Given the description of an element on the screen output the (x, y) to click on. 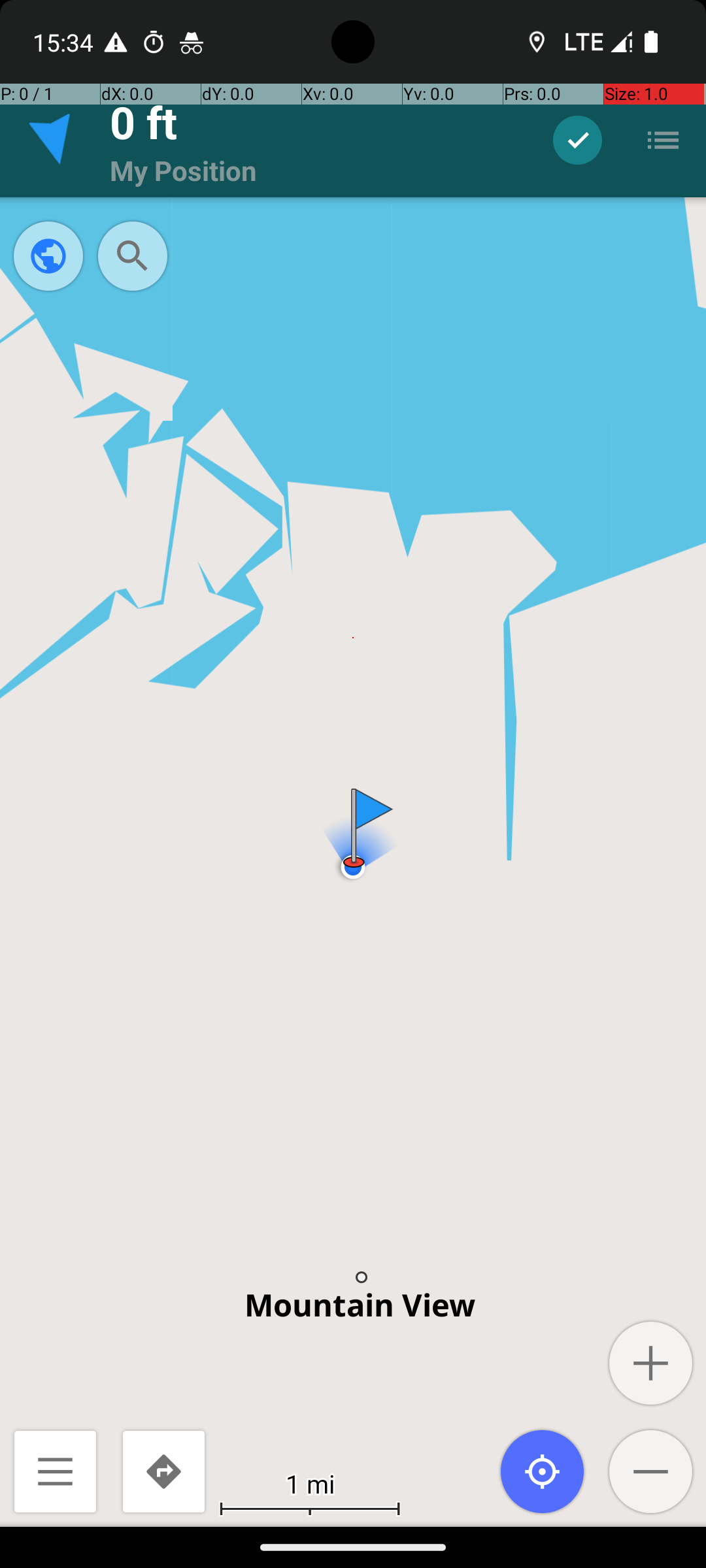
Map Element type: android.view.View (353, 763)
Configure map Element type: android.widget.ImageButton (48, 256)
Back to menu Element type: android.widget.ImageButton (55, 1471)
Route Element type: android.widget.ImageButton (163, 1471)
1 mi Element type: android.widget.TextView (309, 1483)
Where am I Element type: android.widget.ImageButton (542, 1471)
Zoom in Element type: android.widget.ImageButton (650, 1362)
Zoom out Element type: android.widget.ImageButton (650, 1471)
0 ft Element type: android.widget.TextView (143, 121)
My Position Element type: android.widget.TextView (182, 169)
Move to history Element type: android.widget.ImageButton (577, 139)
More… Element type: android.widget.ImageButton (663, 139)
